Given the description of an element on the screen output the (x, y) to click on. 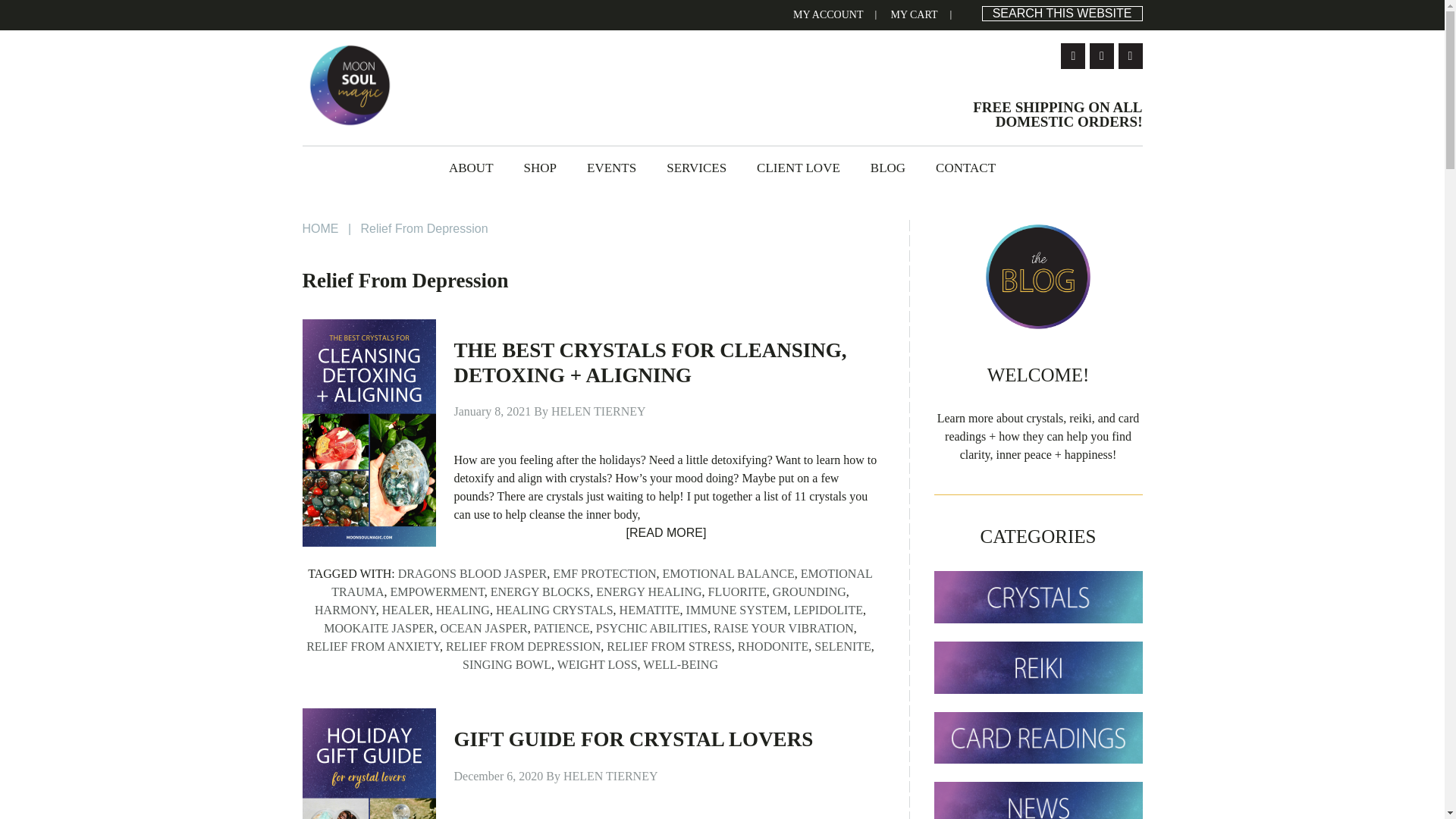
ENERGY HEALING (648, 591)
HEALING (462, 609)
HELEN TIERNEY (598, 410)
Follow Moon Soul Magic on Facebook! (1072, 55)
MY CART (913, 14)
HEALER (405, 609)
HOME (319, 228)
SHOP (540, 167)
Follow Moon Soul Magic on Instagram! (1101, 55)
EVENTS (611, 167)
SERVICES (695, 167)
BLOG (888, 167)
ABOUT (470, 167)
